Given the description of an element on the screen output the (x, y) to click on. 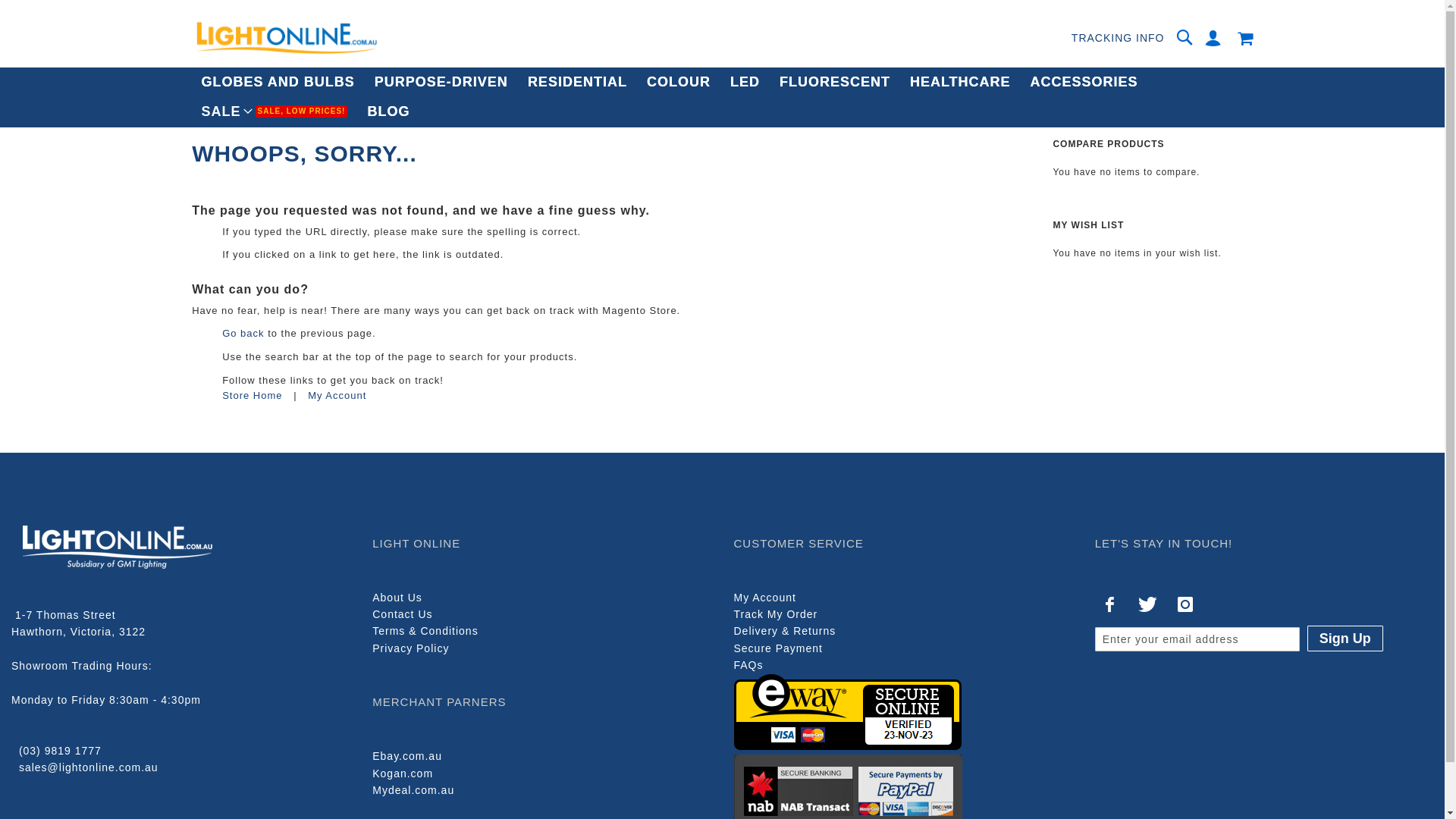
LightOnline, Melbourne Australia Element type: hover (285, 37)
Secure Payment Element type: text (778, 648)
HEALTHCARE Element type: text (960, 82)
eWAY Payment Gateway Element type: hover (847, 746)
Contact Us Element type: text (402, 614)
Privacy Policy Element type: text (410, 648)
Go back Element type: text (242, 332)
ACCESSORIES Element type: text (1084, 82)
BLOG Element type: text (388, 112)
Ebay.com.au Element type: text (407, 755)
COLOUR Element type: text (678, 82)
FLUORESCENT Element type: text (834, 82)
Store Home Element type: text (252, 395)
TRACKING INFO Element type: text (1117, 37)
Terms & Conditions Element type: text (424, 630)
SALE
SALE, LOW PRICES! Element type: text (274, 111)
Mydeal.com.au Element type: text (413, 790)
Sign Up Element type: text (1345, 638)
My Account Element type: text (765, 597)
About Us Element type: text (397, 597)
Kogan.com Element type: text (402, 773)
LED Element type: text (744, 82)
PURPOSE-DRIVEN Element type: text (440, 82)
Track My Order Element type: text (776, 614)
Sign In Element type: text (1213, 37)
MY CART Element type: text (1245, 37)
Delivery & Returns Element type: text (785, 630)
GLOBES AND BULBS Element type: text (277, 82)
My Account Element type: text (336, 395)
RESIDENTIAL Element type: text (577, 82)
FAQs Element type: text (748, 664)
